Given the description of an element on the screen output the (x, y) to click on. 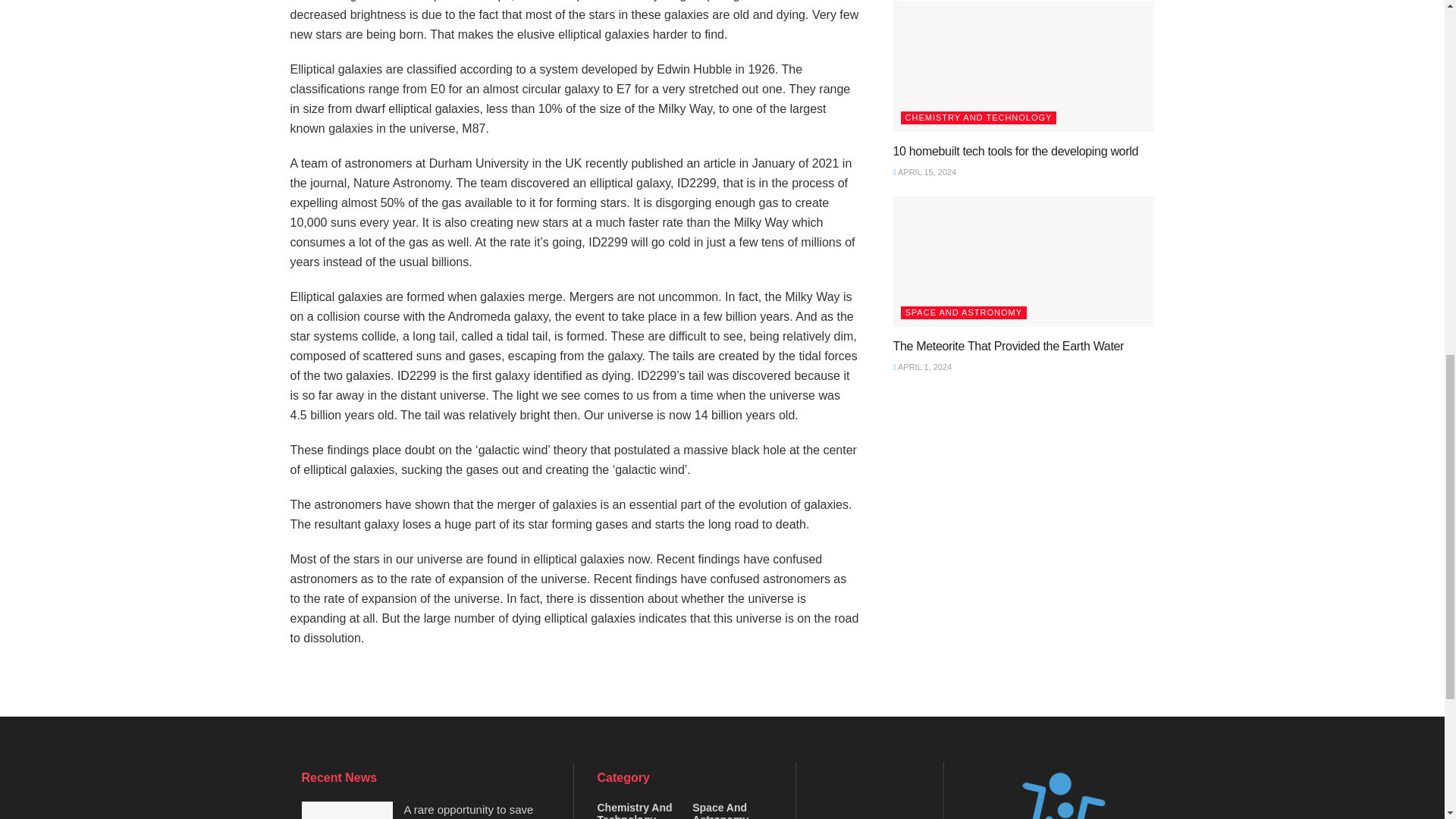
APRIL 1, 2024 (922, 366)
Space And Astronomy (733, 810)
APRIL 15, 2024 (924, 171)
CHEMISTRY AND TECHNOLOGY (979, 117)
10 homebuilt tech tools for the developing world (1015, 151)
Chemistry And Technology (636, 810)
SPACE AND ASTRONOMY (964, 312)
A rare opportunity to save the world has arrived (467, 811)
The Meteorite That Provided the Earth Water (1008, 345)
